Given the description of an element on the screen output the (x, y) to click on. 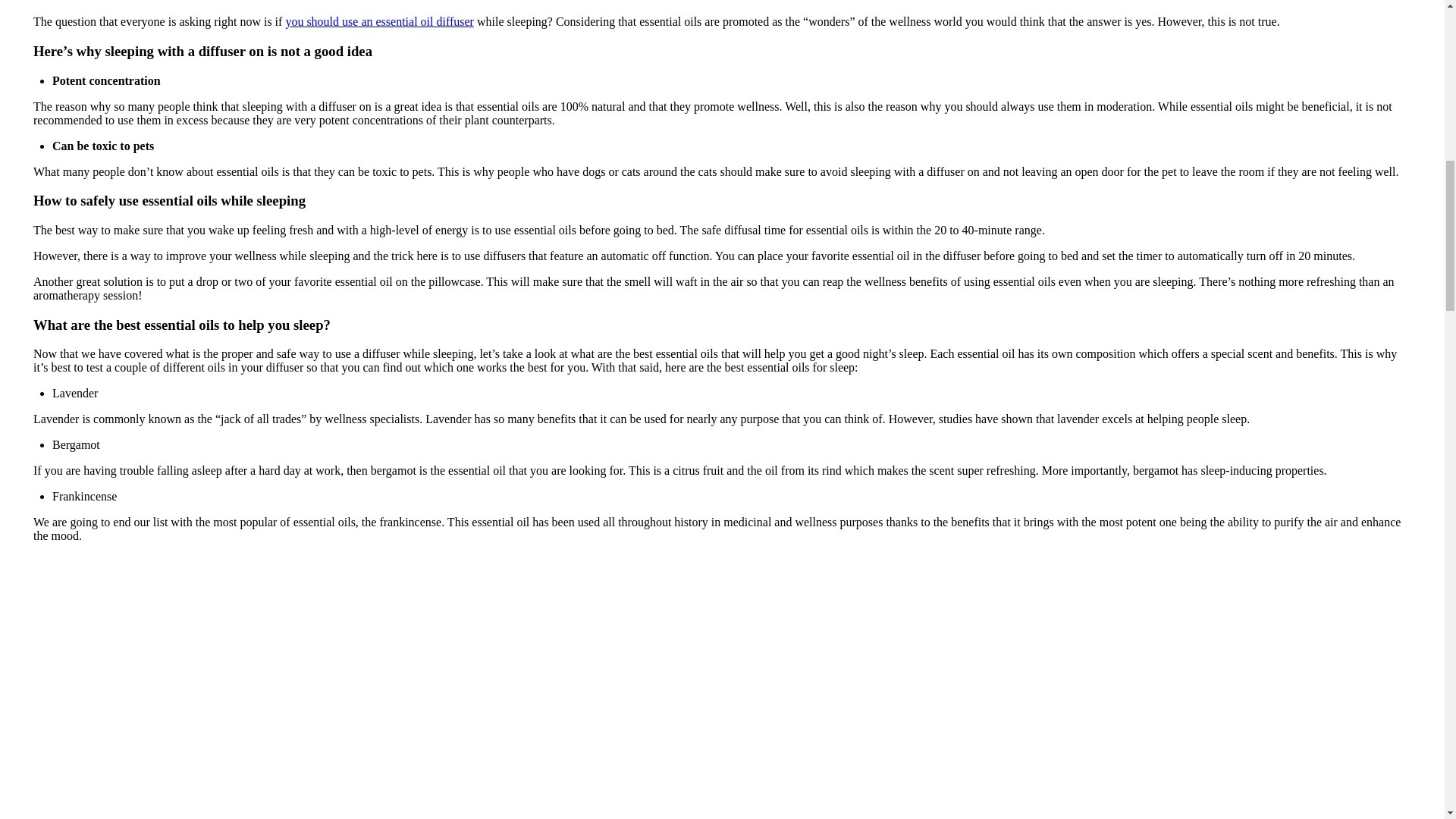
you should use an essential oil diffuser (379, 21)
